Given the description of an element on the screen output the (x, y) to click on. 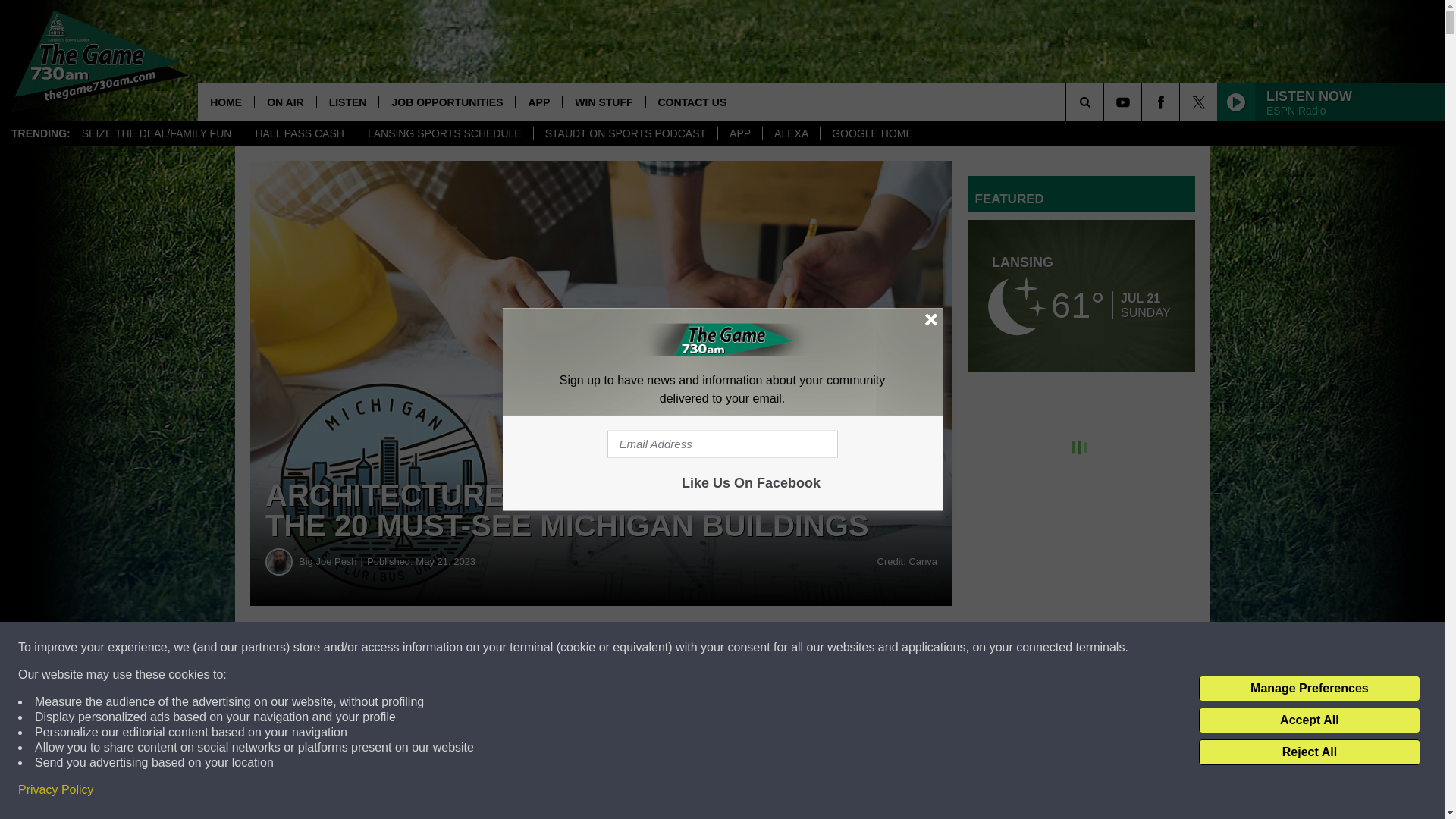
HALL PASS CASH (299, 133)
Email Address (722, 443)
Reject All (1309, 751)
LISTEN (346, 102)
SEARCH (1106, 102)
STAUDT ON SPORTS PODCAST (624, 133)
ALEXA (790, 133)
Lansing Weather (1081, 295)
ON AIR (284, 102)
Share on Twitter (741, 647)
Privacy Policy (55, 789)
Manage Preferences (1309, 688)
LANSING SPORTS SCHEDULE (443, 133)
Accept All (1309, 720)
HOME (225, 102)
